Given the description of an element on the screen output the (x, y) to click on. 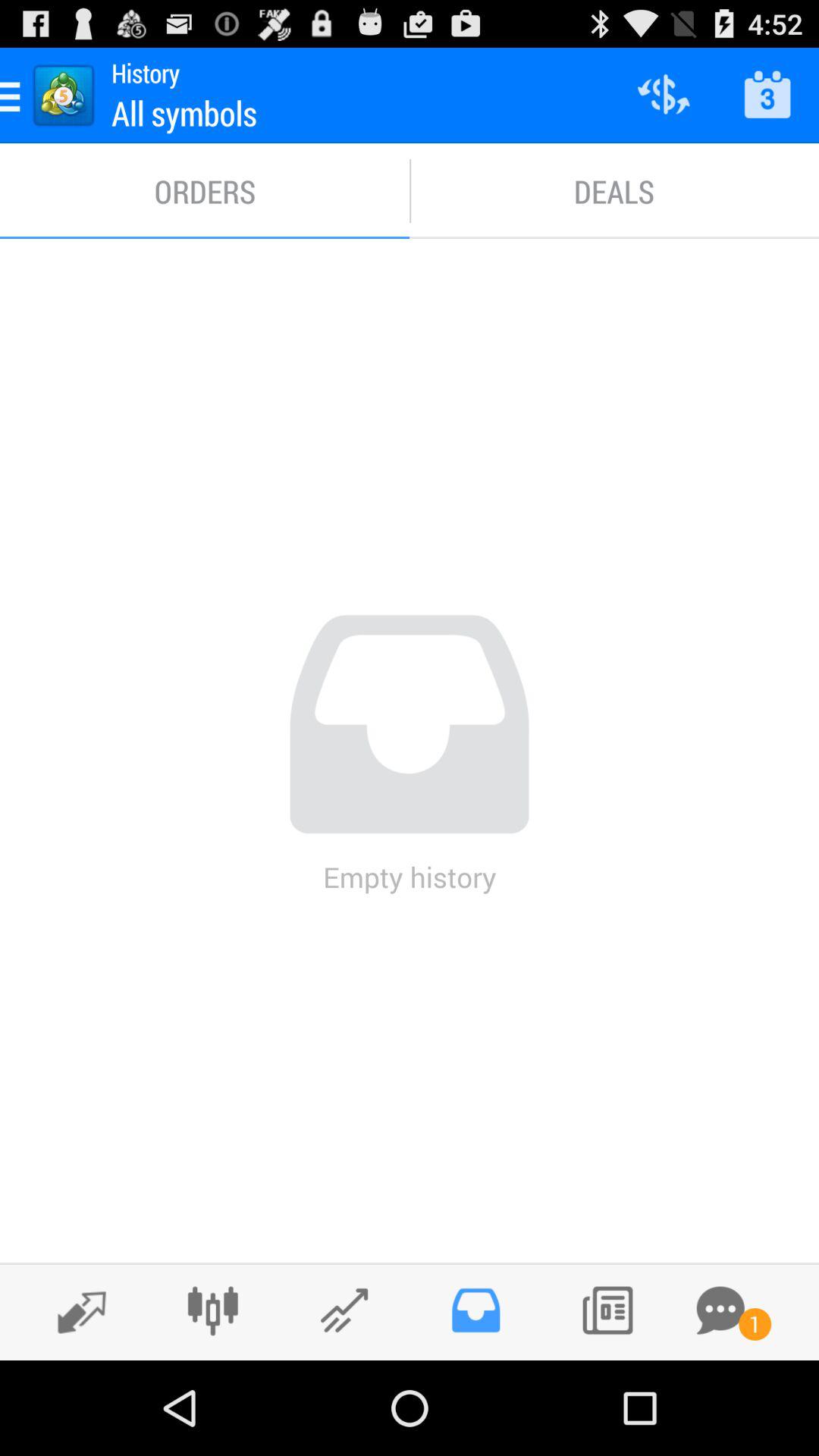
click the icon to the right of orders item (614, 190)
